Given the description of an element on the screen output the (x, y) to click on. 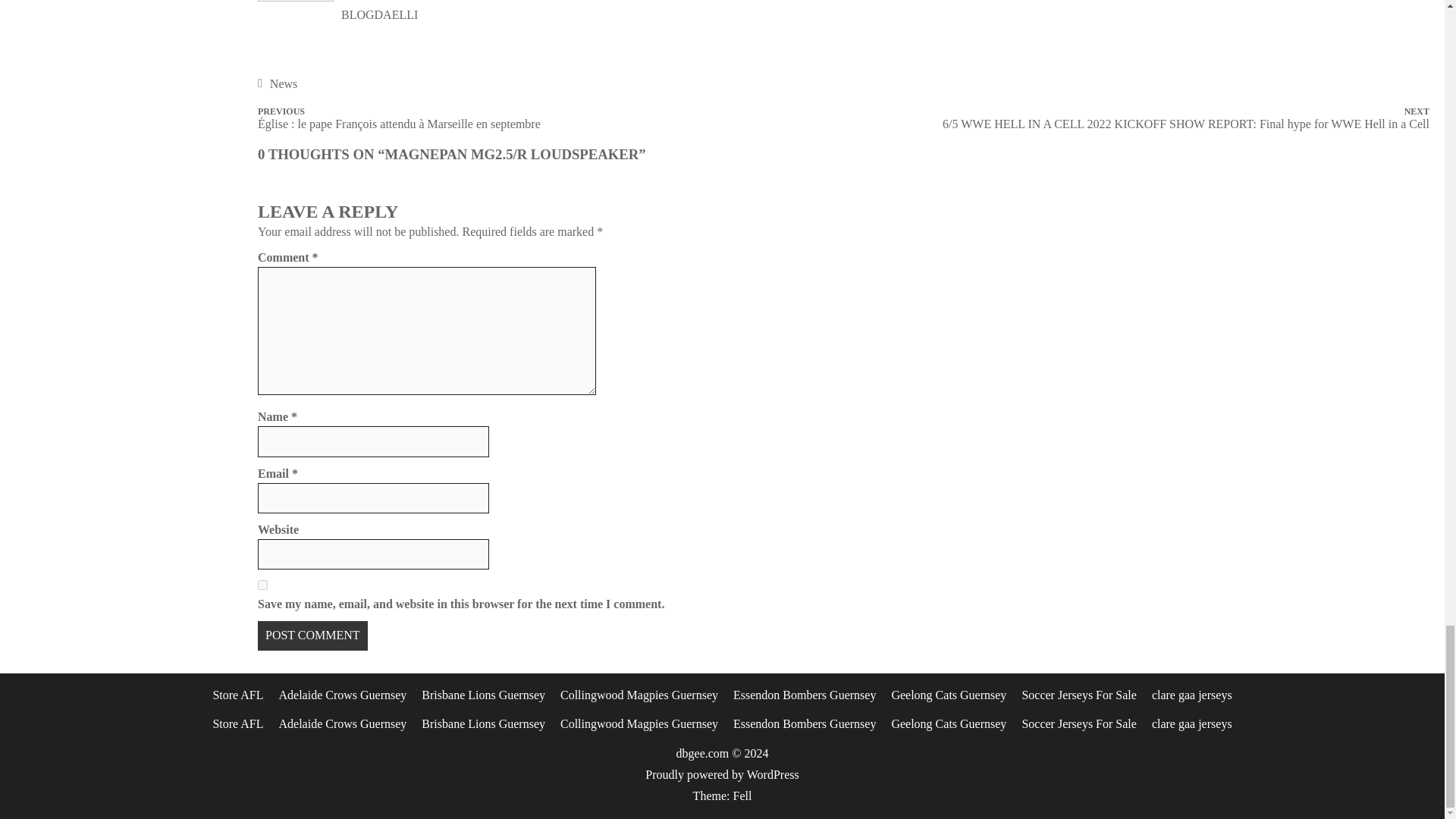
Post Comment (312, 635)
yes (262, 584)
